Given the description of an element on the screen output the (x, y) to click on. 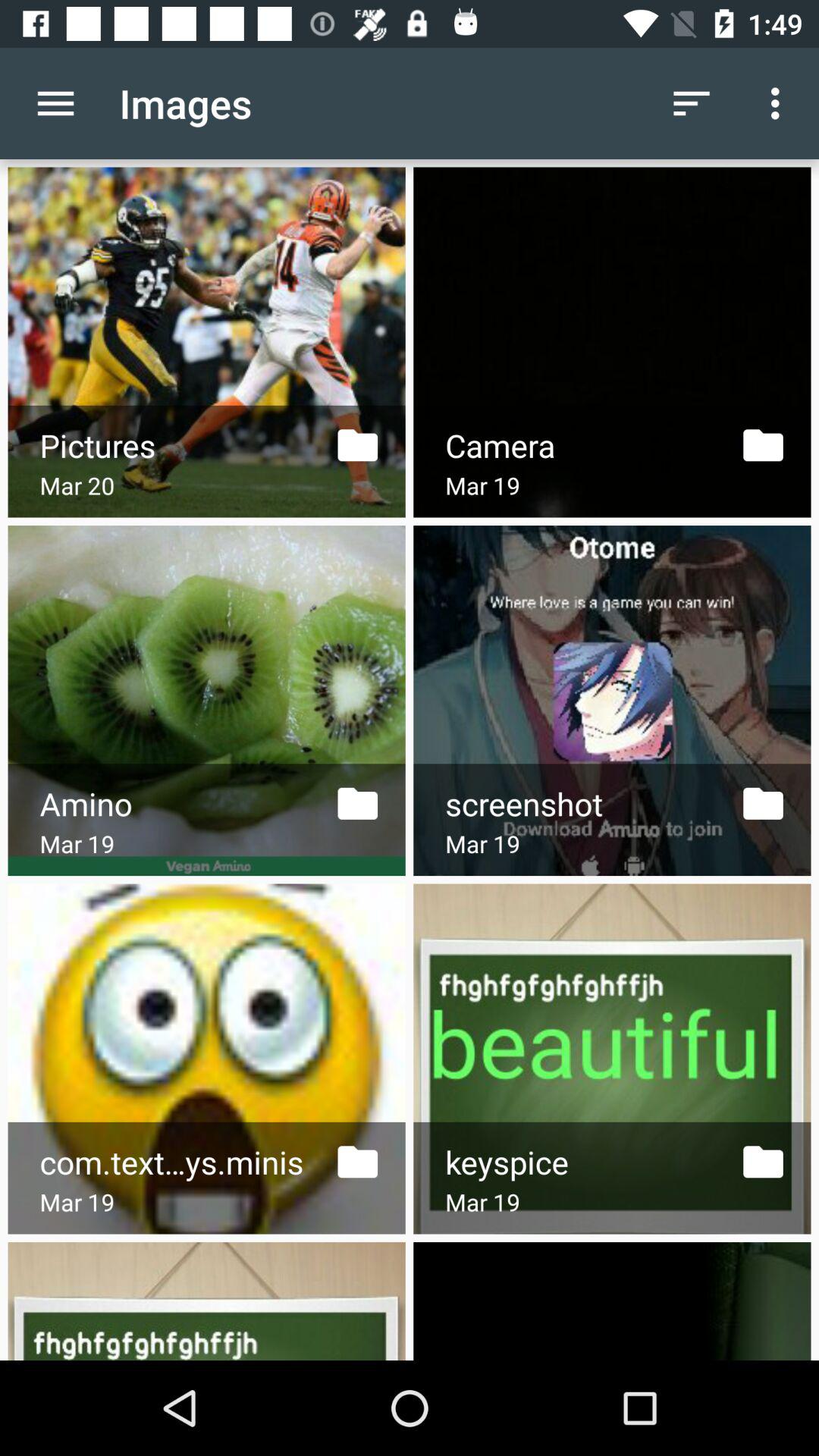
launch icon to the left of the images icon (55, 103)
